Given the description of an element on the screen output the (x, y) to click on. 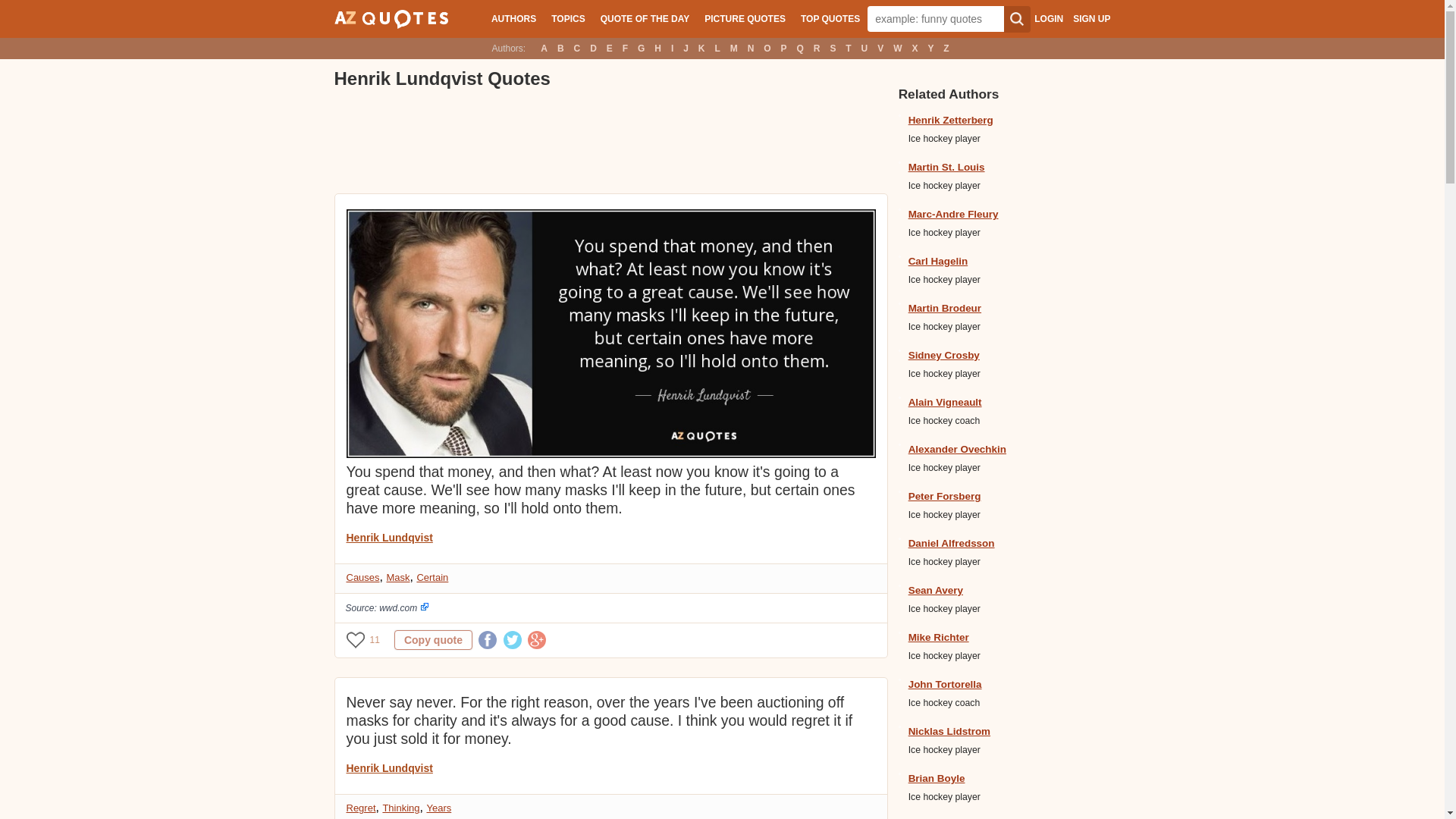
Advertisement (609, 143)
TOPICS (567, 18)
Quote is copied (432, 639)
QUOTE OF THE DAY (644, 18)
PICTURE QUOTES (745, 18)
LOGIN (1047, 18)
AUTHORS (513, 18)
SIGN UP (1091, 18)
TOP QUOTES (830, 18)
